Given the description of an element on the screen output the (x, y) to click on. 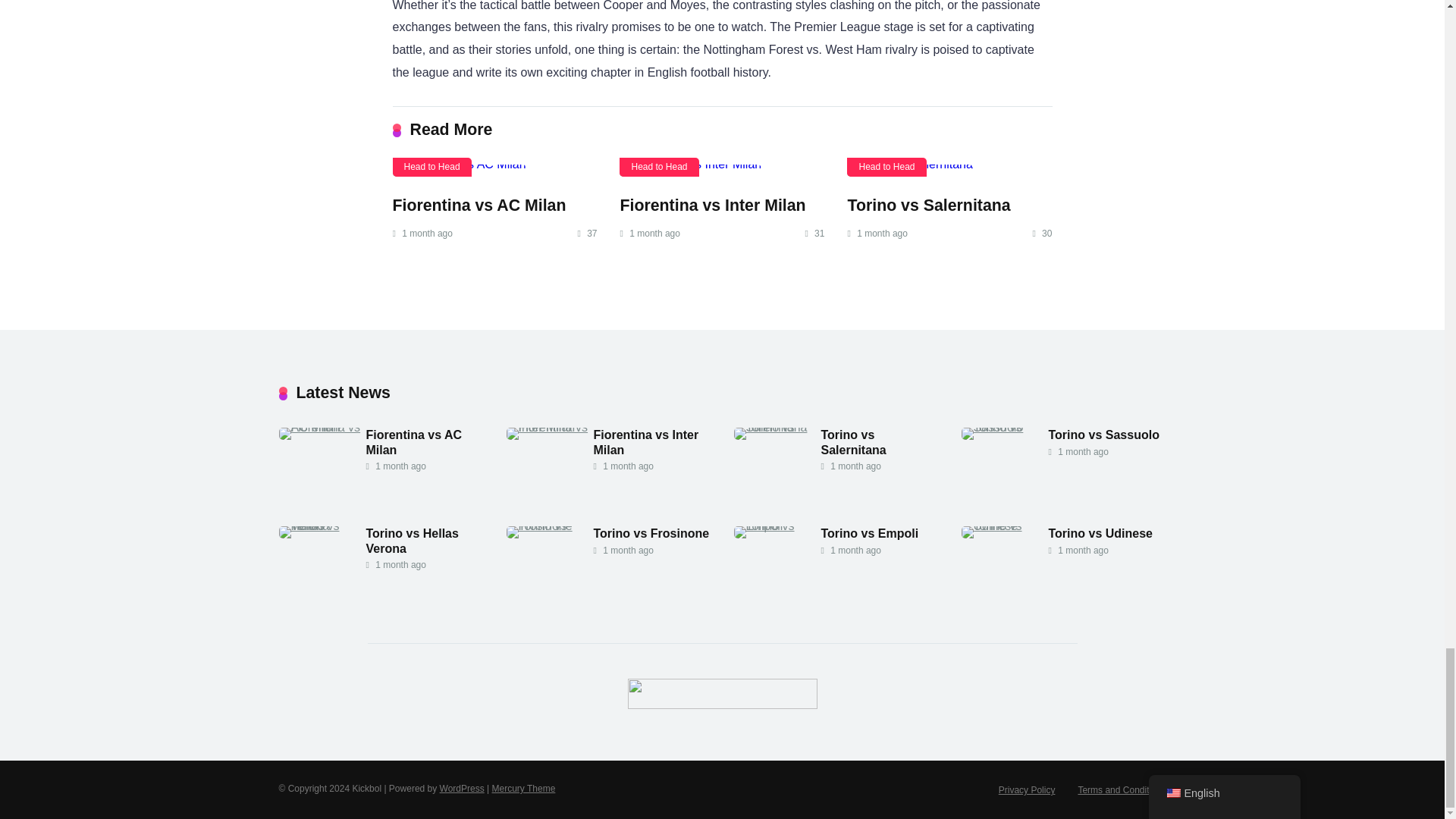
Torino vs Sassuolo (1103, 435)
Torino vs Salernitana (853, 442)
Torino vs Salernitana (928, 205)
Fiorentina vs AC Milan (479, 205)
Head to Head (659, 167)
Torino vs Frosinone (650, 533)
Torino vs Hellas Verona (411, 541)
Fiorentina vs AC Milan (413, 442)
Fiorentina vs Inter Milan (645, 442)
Fiorentina vs AC Milan (479, 205)
Fiorentina vs Inter Milan (550, 427)
Fiorentina vs Inter Milan (712, 205)
Torino vs Salernitana (853, 442)
Fiorentina vs AC Milan (322, 427)
Fiorentina vs Inter Milan (712, 205)
